Given the description of an element on the screen output the (x, y) to click on. 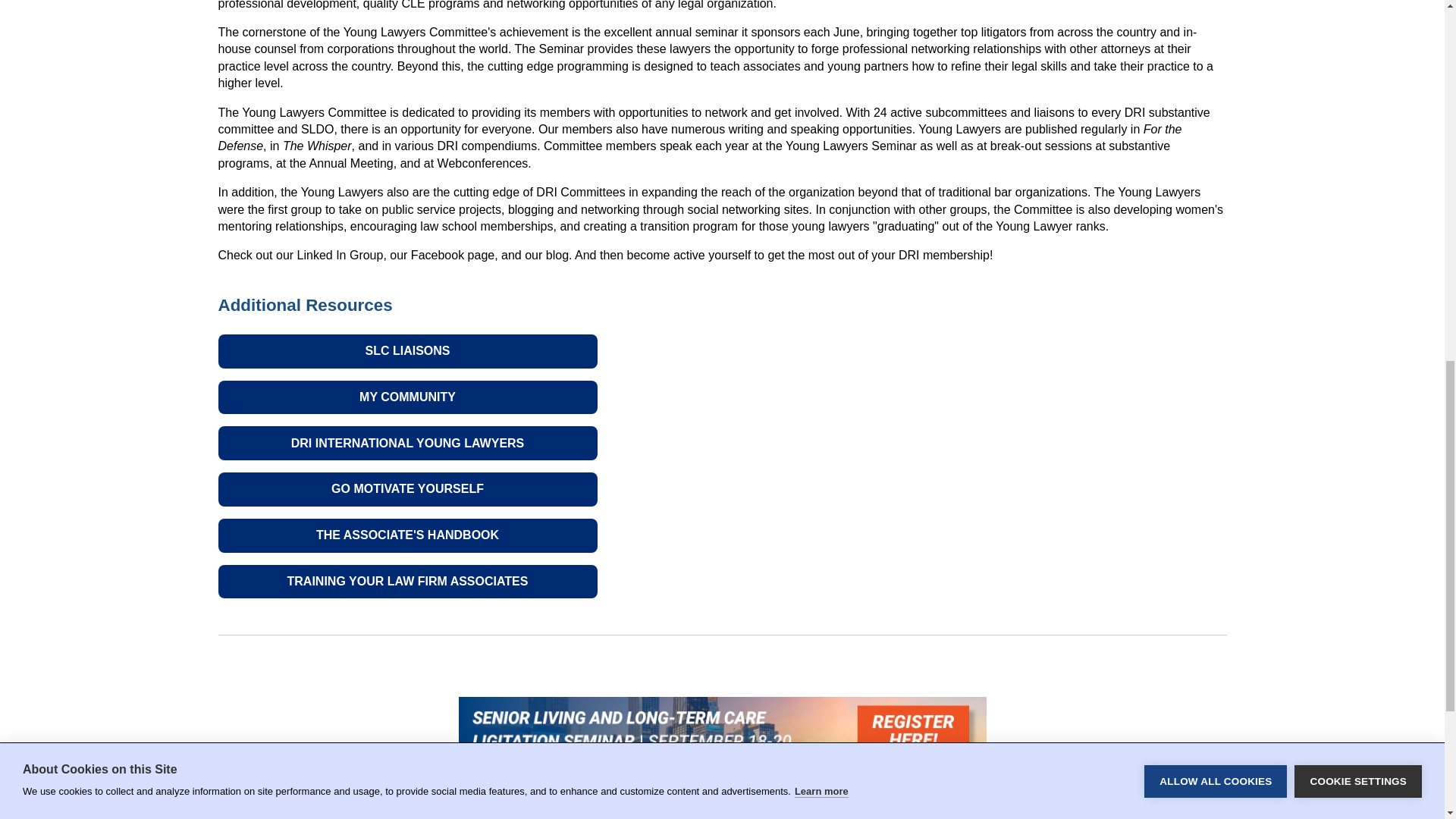
COOKIE SETTINGS (1358, 5)
Learn more (821, 32)
ALLOW ALL COOKIES (1215, 9)
